Given the description of an element on the screen output the (x, y) to click on. 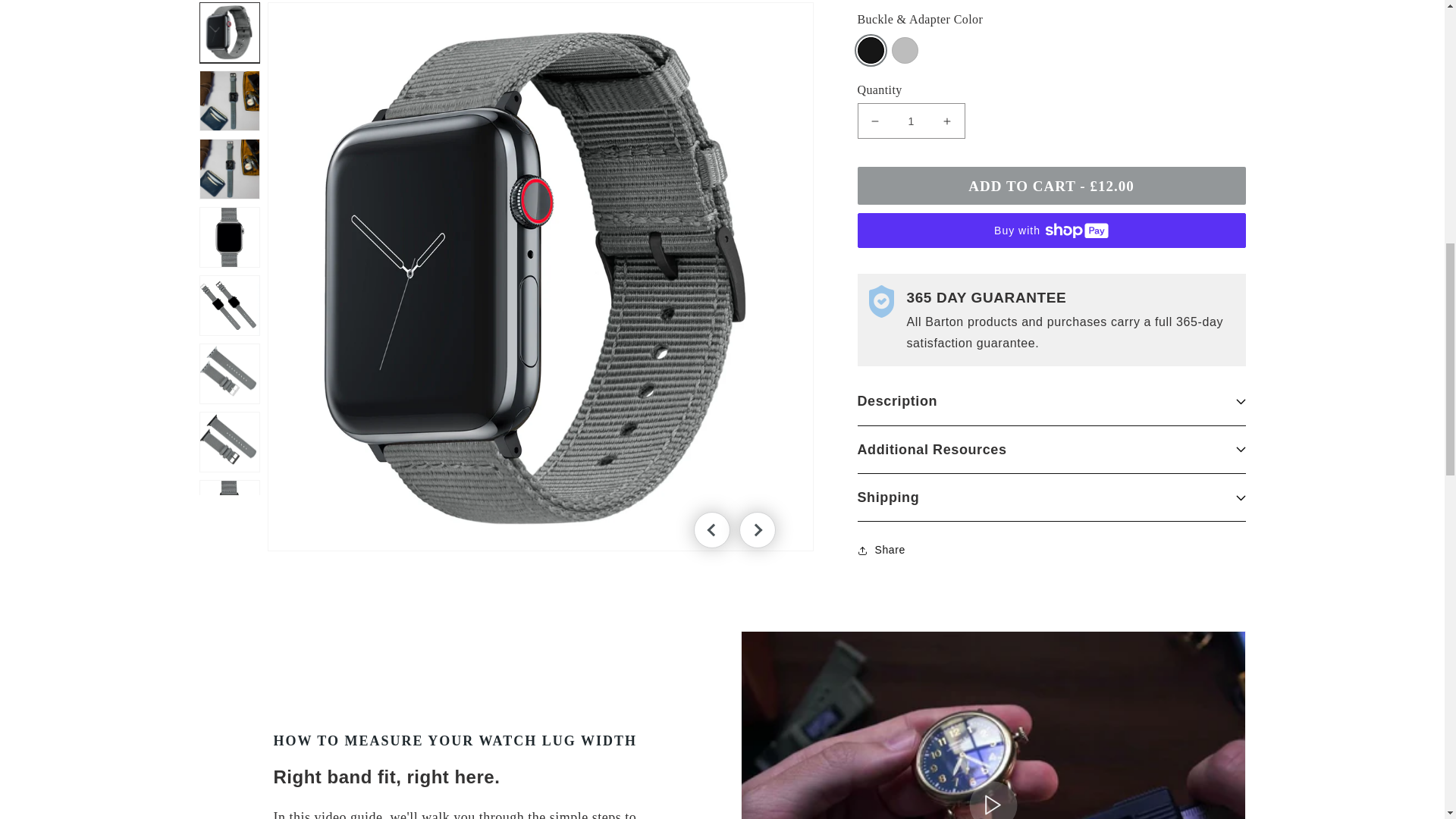
Right band fit, right here. (992, 725)
1 (910, 109)
